Given the description of an element on the screen output the (x, y) to click on. 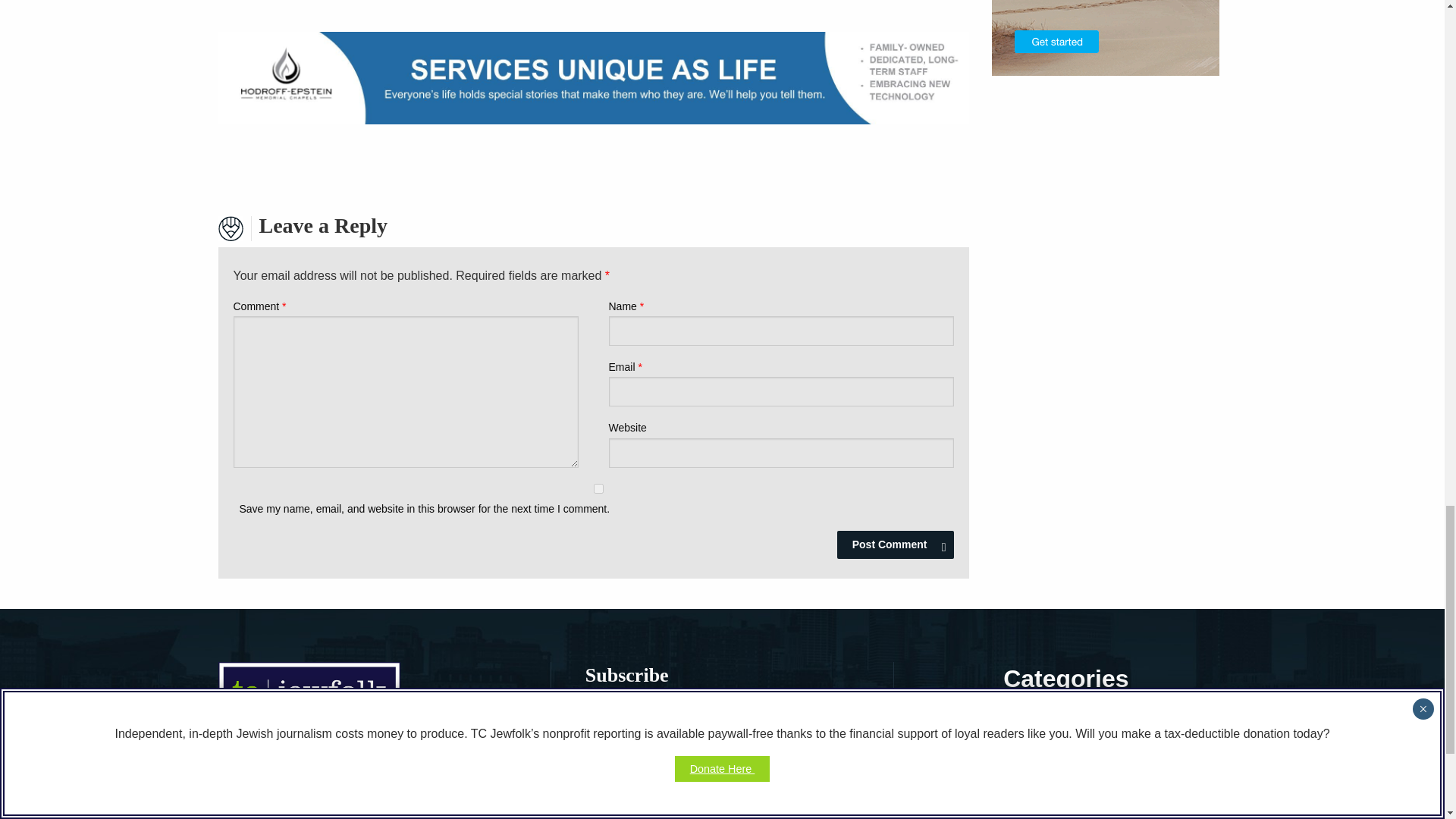
yes (597, 488)
Post Comment (895, 543)
Subscribe (635, 815)
TC Jewfolk (309, 699)
